Given the description of an element on the screen output the (x, y) to click on. 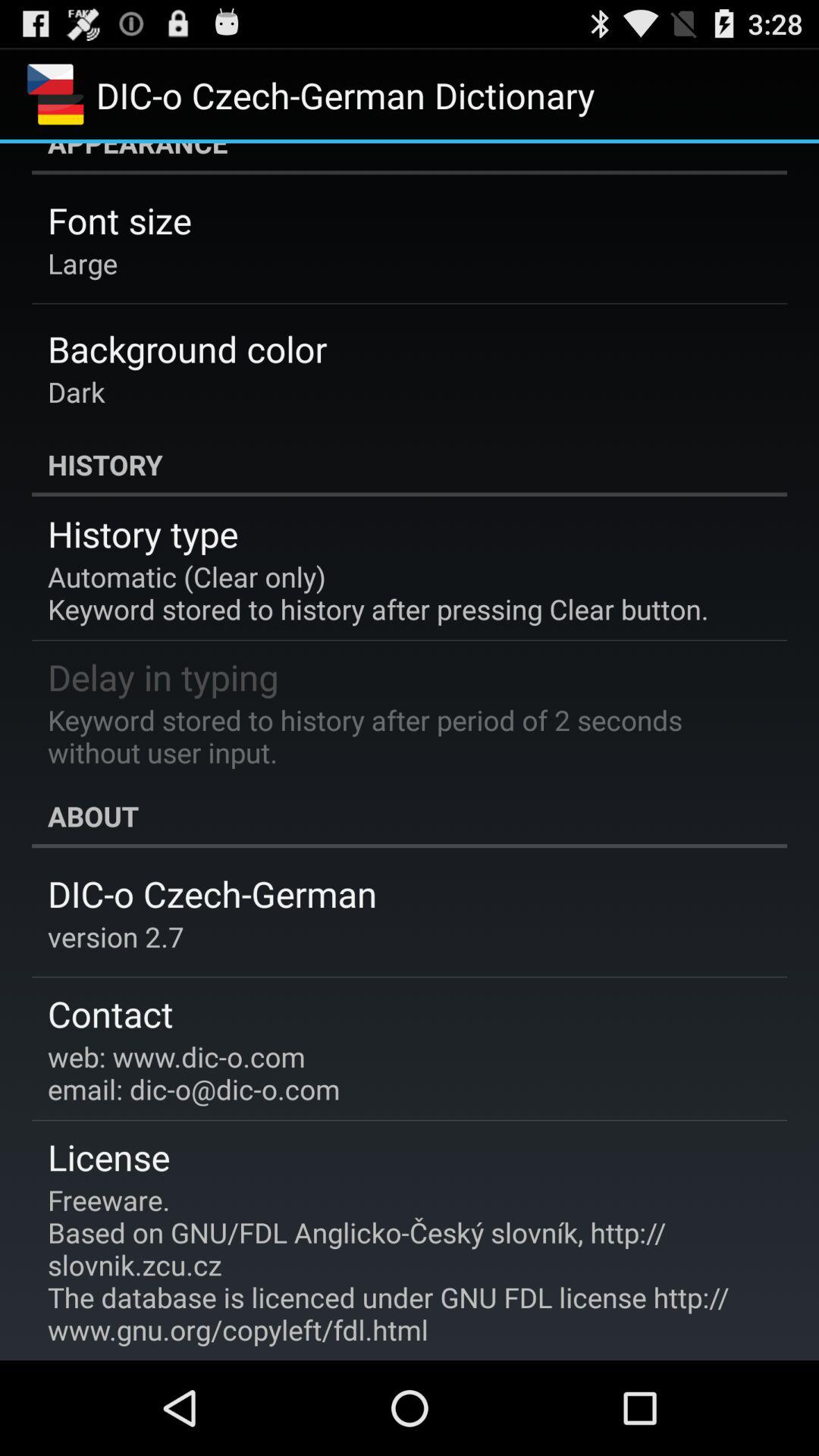
click app below contact app (193, 1072)
